Given the description of an element on the screen output the (x, y) to click on. 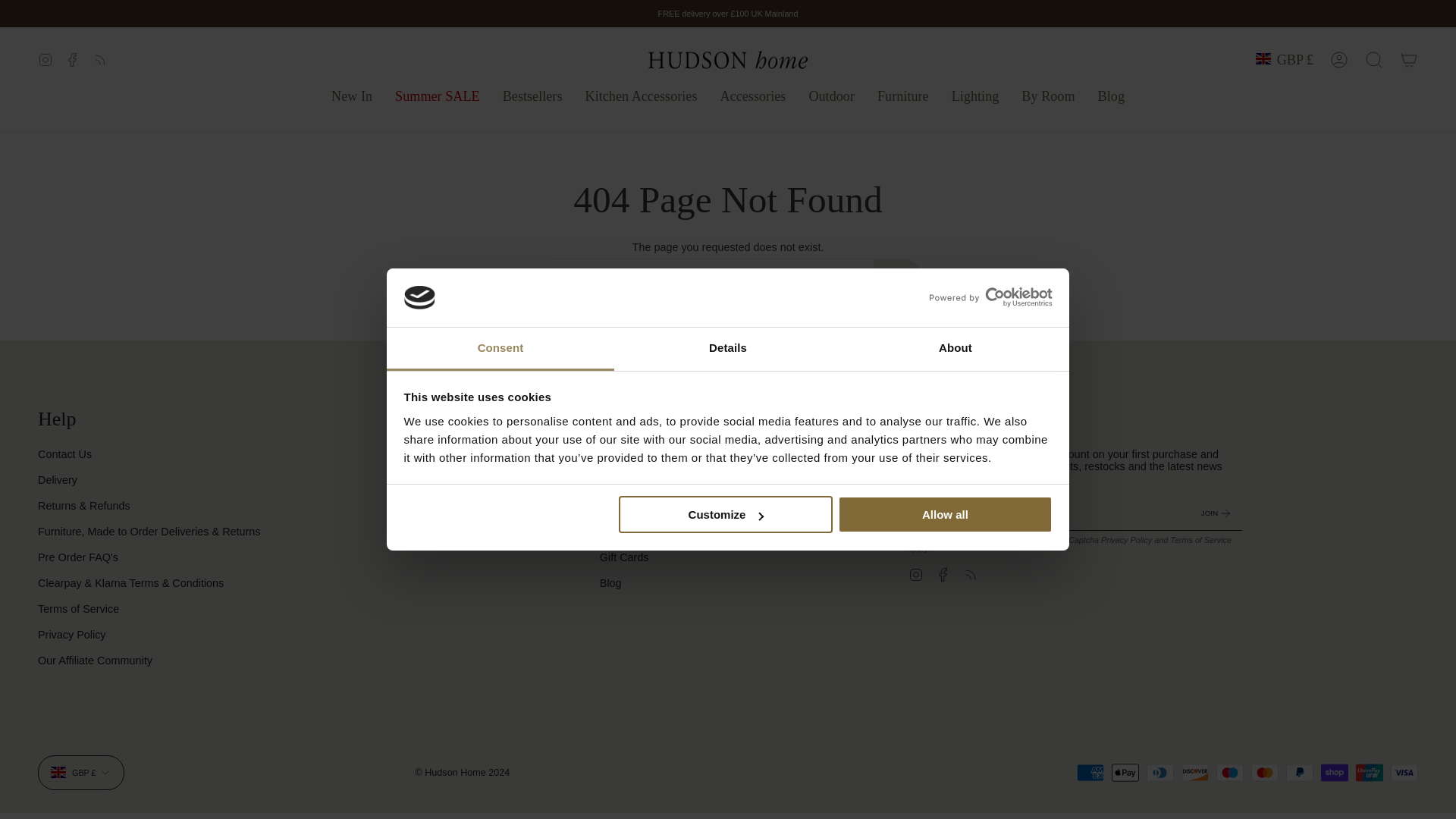
Hudson Home on Feed (100, 59)
Consent (500, 349)
My Account (1339, 59)
Hudson Home on Facebook (72, 59)
Search (1373, 59)
Details (727, 349)
About (954, 349)
Hudson Home on Instagram (44, 59)
